Given the description of an element on the screen output the (x, y) to click on. 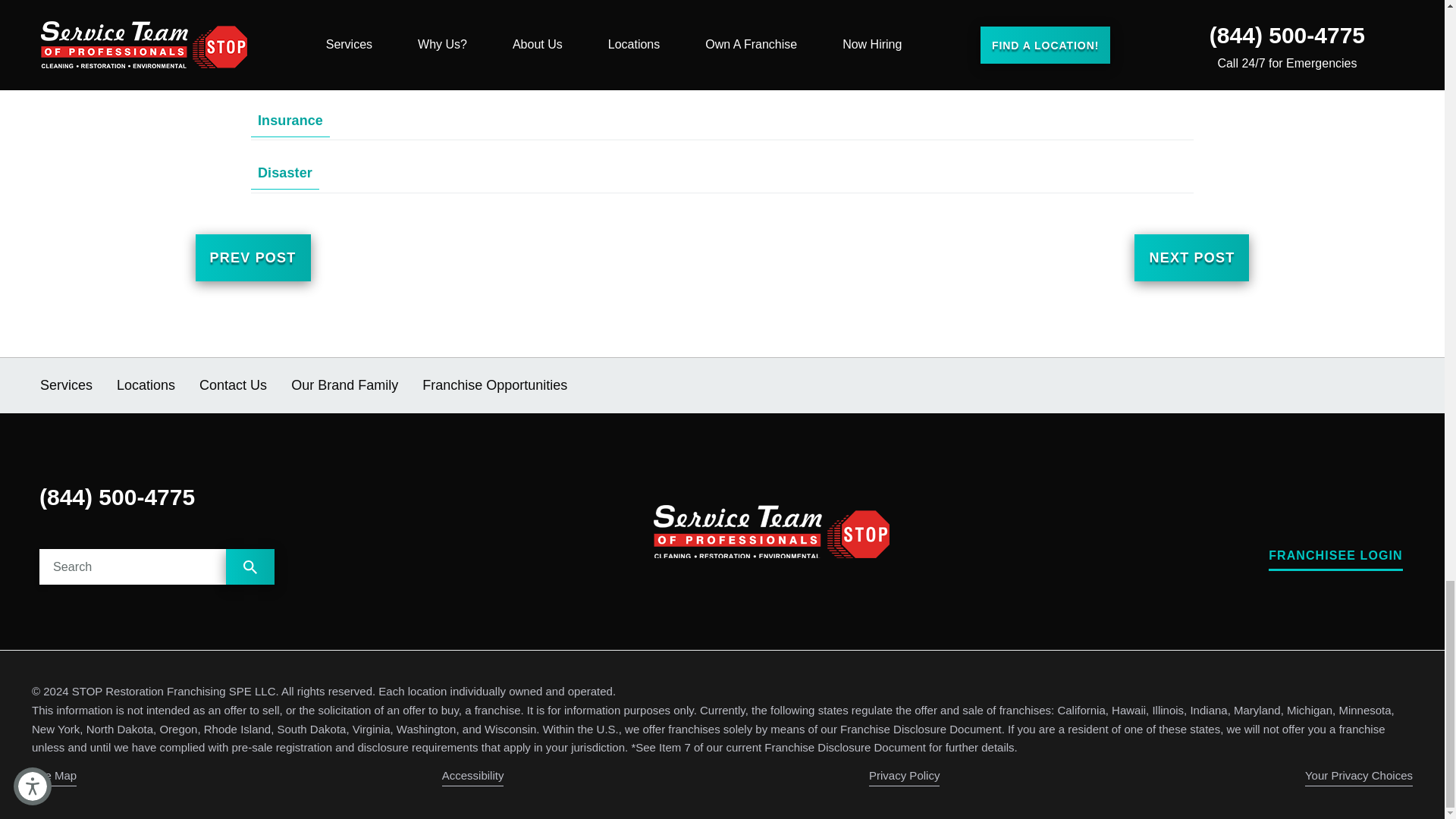
Instagram (1366, 506)
STOP Restoration (771, 531)
YouTube (1336, 506)
LinkedIn (1397, 506)
Facebook (1306, 506)
